Given the description of an element on the screen output the (x, y) to click on. 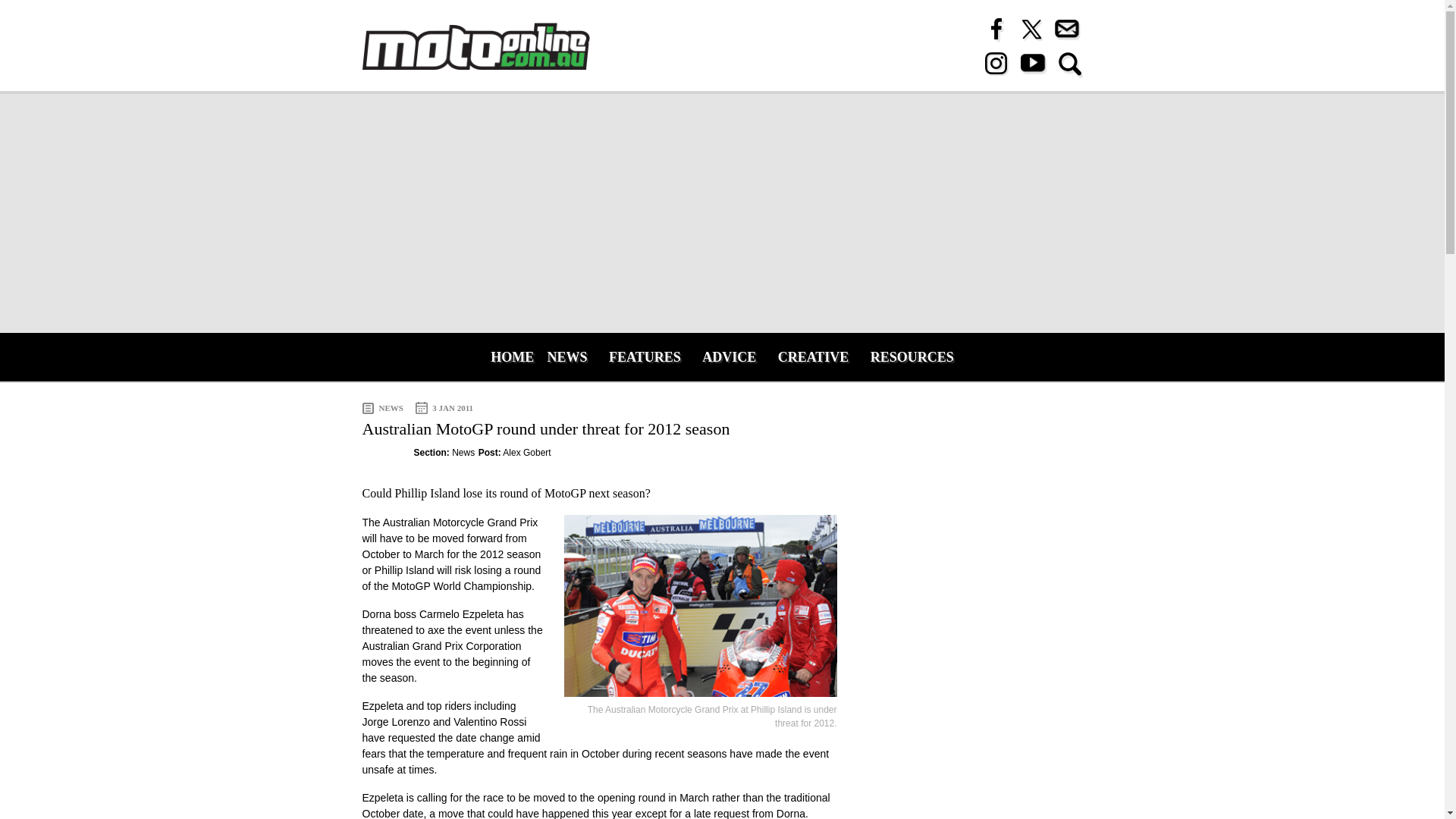
RESOURCES (911, 356)
HOME (507, 356)
Home (475, 46)
FEATURES (644, 356)
CREATIVE (813, 356)
stoner-agp (700, 605)
NEWS (567, 356)
ADVICE (729, 356)
